Given the description of an element on the screen output the (x, y) to click on. 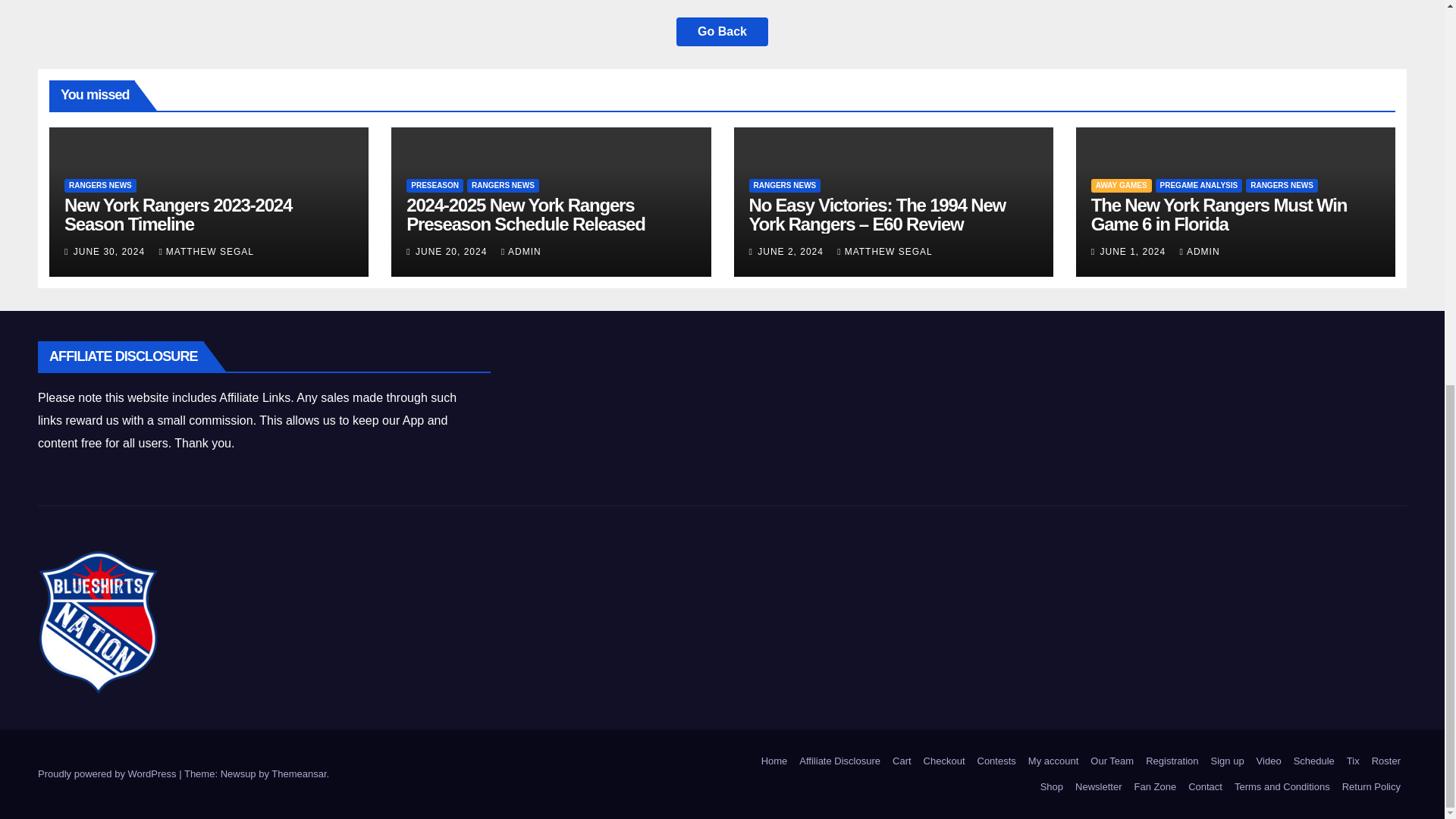
ADMIN (520, 251)
New York Rangers 2023-2024 Season Timeline (178, 214)
JUNE 30, 2024 (111, 251)
RANGERS NEWS (100, 185)
2024-2025 New York Rangers Preseason Schedule Released (525, 214)
PRESEASON (434, 185)
JUNE 20, 2024 (452, 251)
MATTHEW SEGAL (205, 251)
RANGERS NEWS (502, 185)
Permalink to: New York Rangers 2023-2024 Season Timeline (178, 214)
Go Back (722, 31)
